Given the description of an element on the screen output the (x, y) to click on. 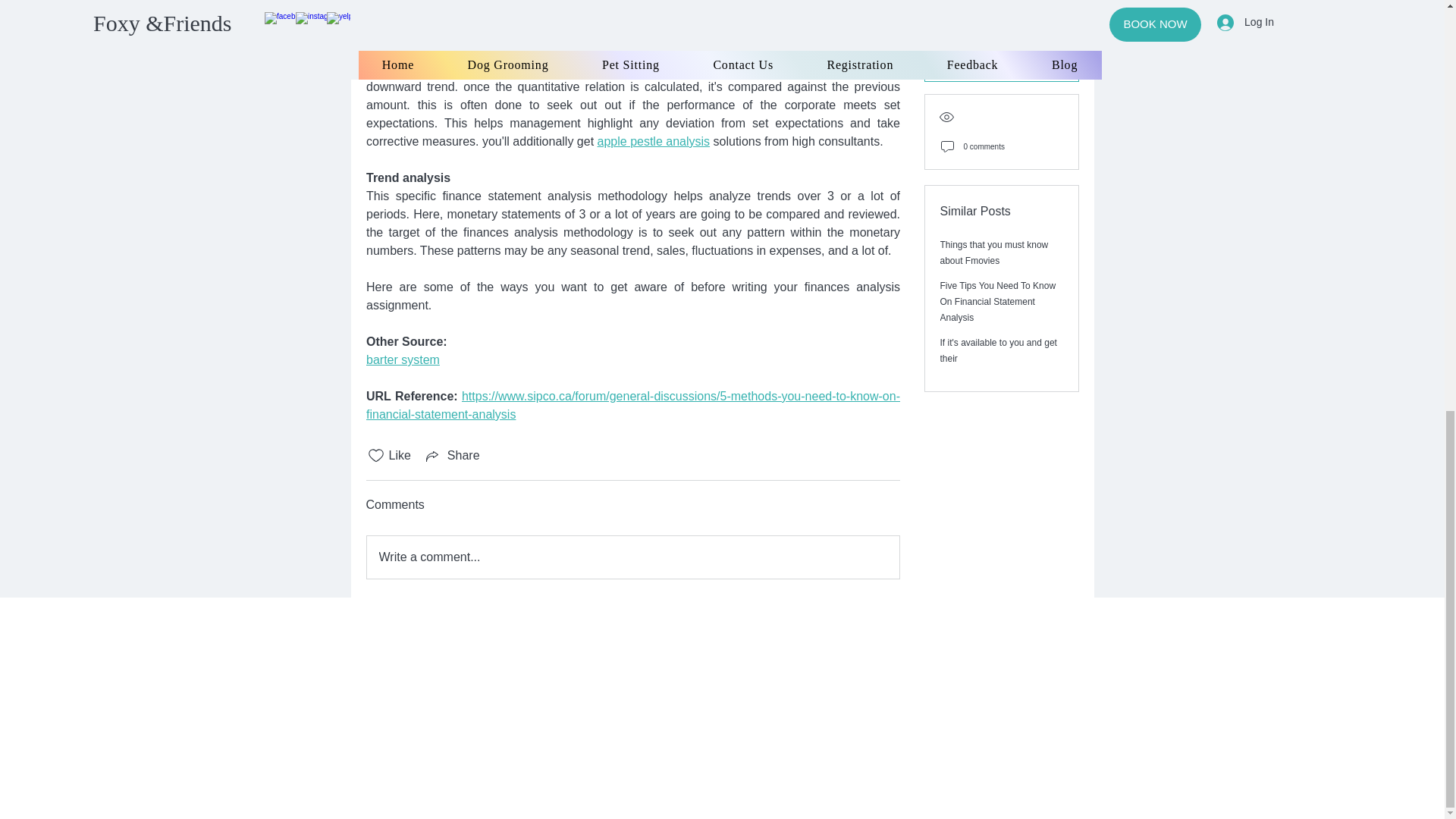
Share (451, 455)
Write a comment... (632, 557)
barter system (402, 359)
apple pestle analysis (653, 141)
